Given the description of an element on the screen output the (x, y) to click on. 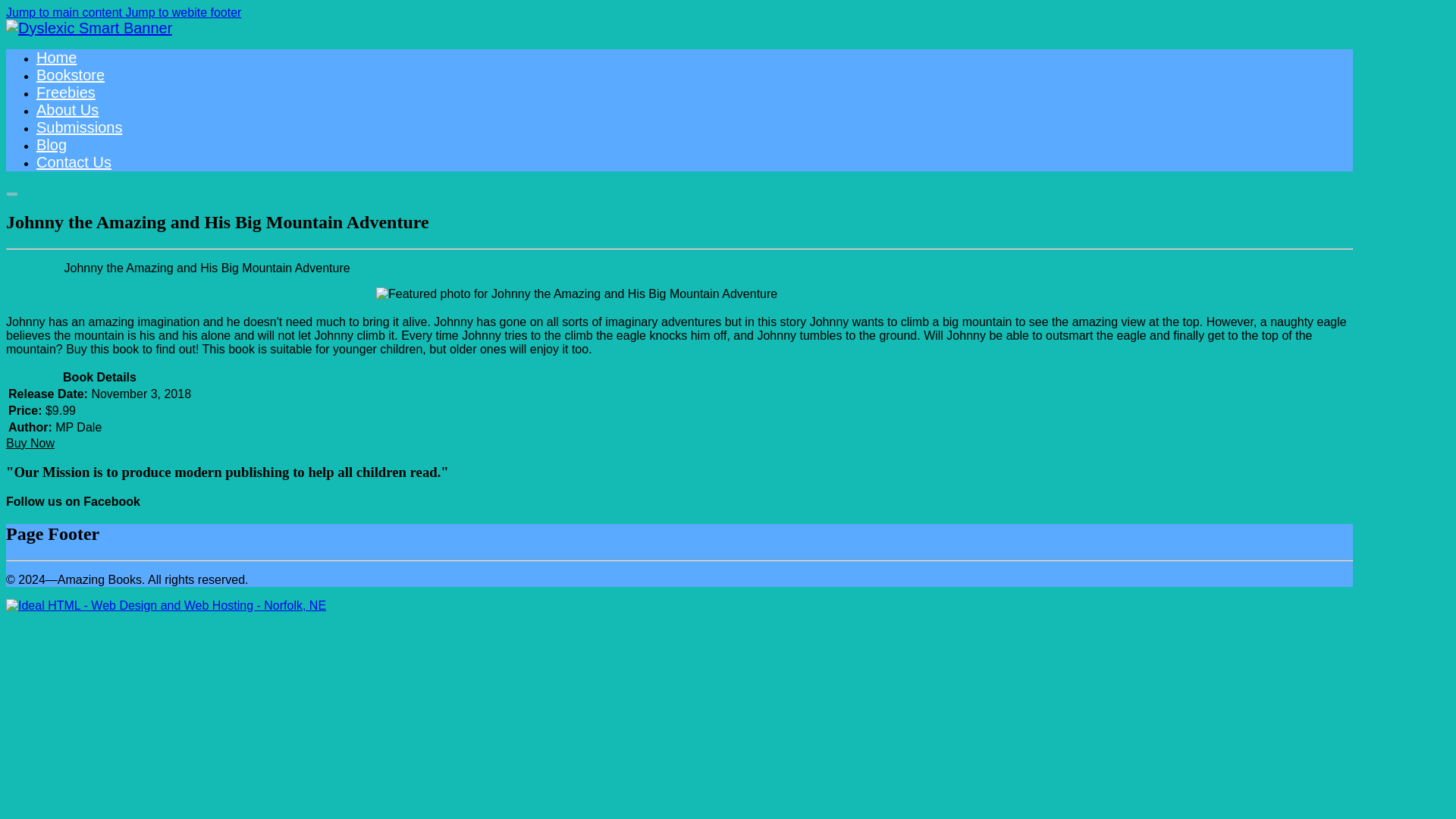
Contact Us (74, 161)
About Us (67, 109)
Bookstore (70, 74)
Back to all Books (33, 267)
Jump to webite footer (183, 11)
Submissions (79, 126)
Jump to main content (65, 11)
Buy Now (30, 442)
Bookstore (33, 267)
Return to Dyslexic Smart Homepage (88, 27)
